Given the description of an element on the screen output the (x, y) to click on. 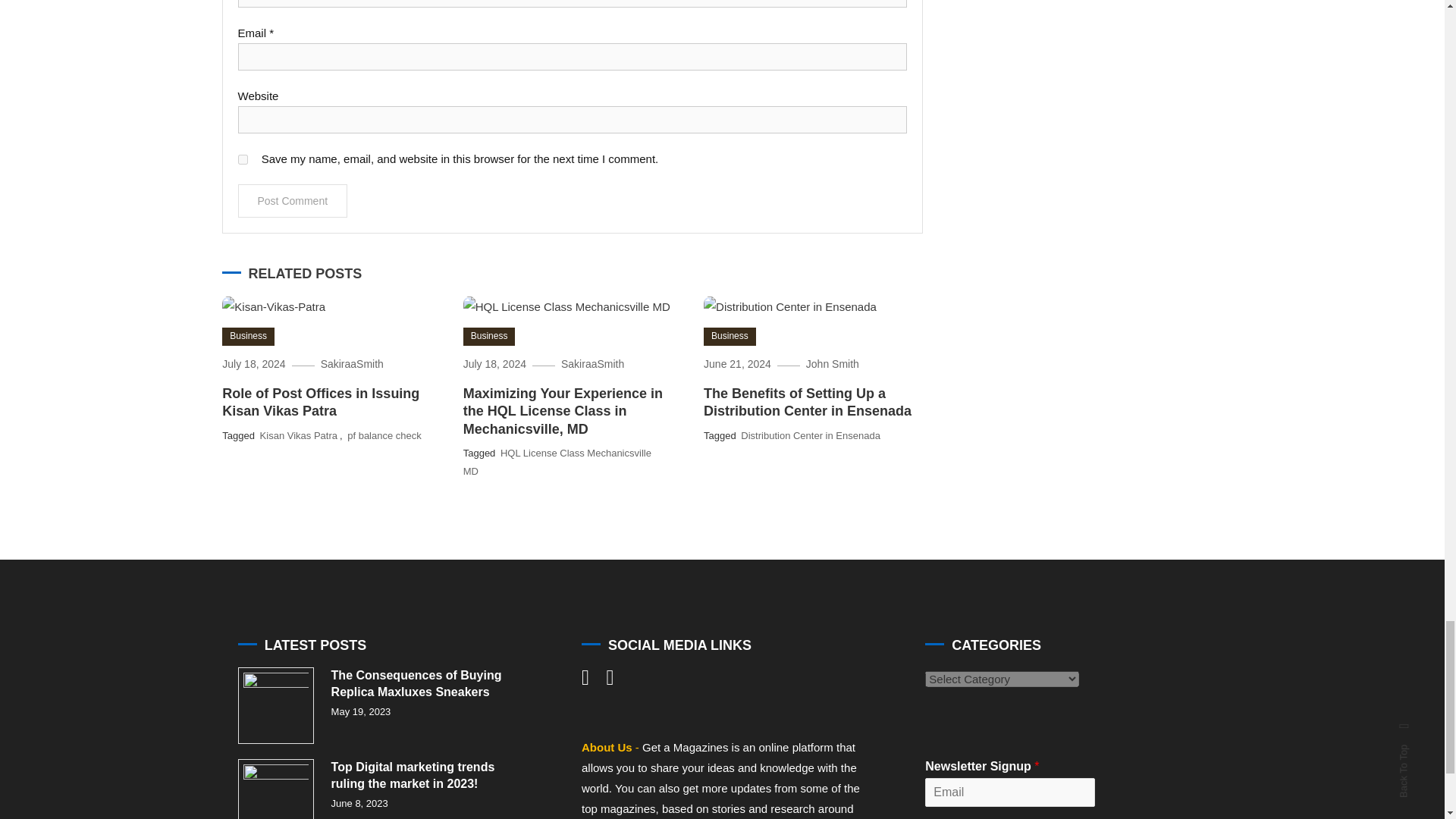
Top Digital marketing trends ruling the market in 2023! (276, 789)
yes (242, 159)
Post Comment (292, 200)
The Consequences of Buying Replica Maxluxes Sneakers (276, 705)
